Given the description of an element on the screen output the (x, y) to click on. 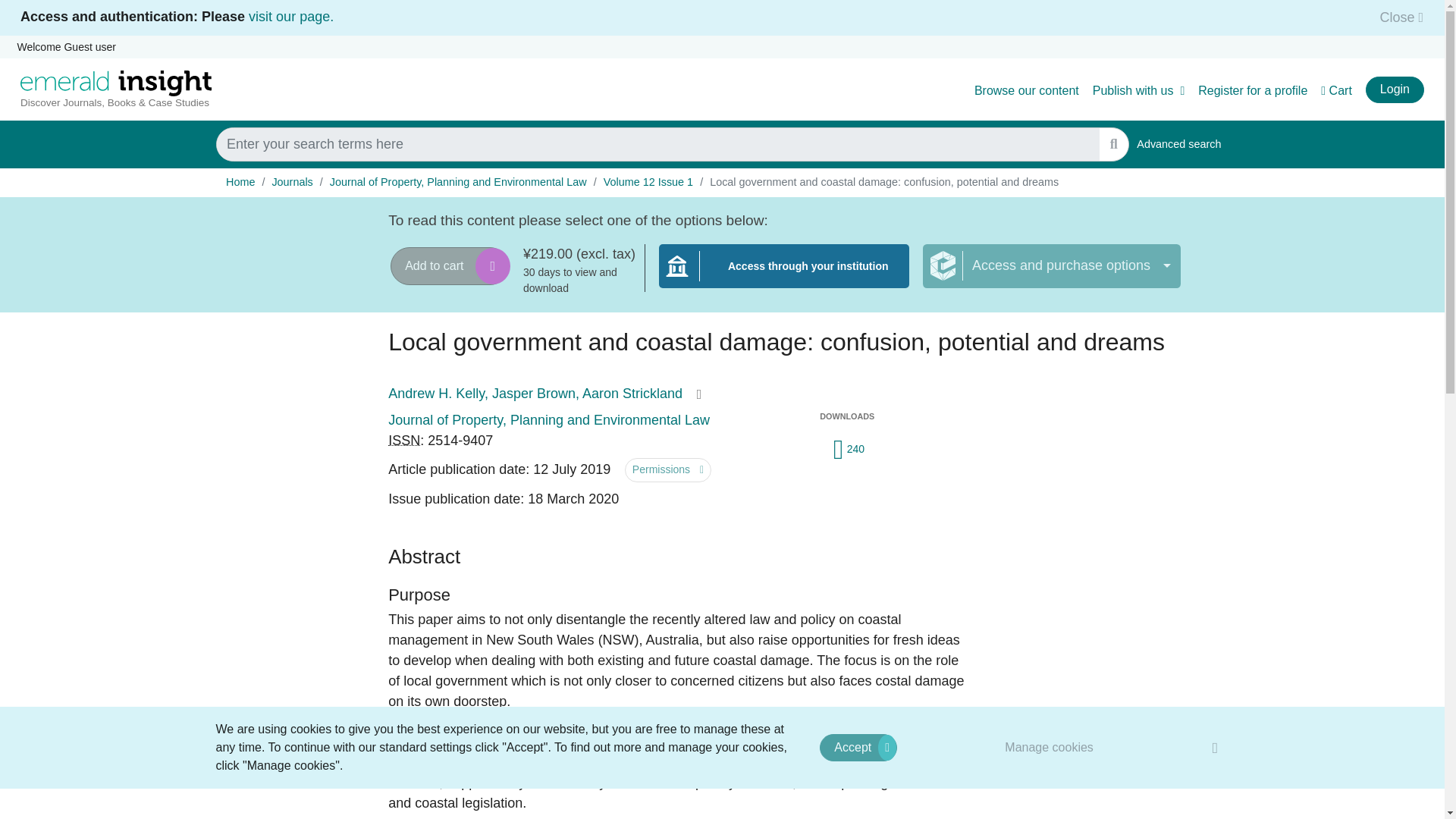
Register for a profile (1252, 90)
Cart (1336, 90)
Journals (291, 182)
Home (239, 182)
visit our page. (290, 16)
Access through your institution (783, 275)
Browse our content (1026, 90)
Manage cookies (1049, 747)
International Standard Serial Number. (404, 440)
Accept (1178, 144)
Publish with us (857, 747)
Close (1139, 90)
